Given the description of an element on the screen output the (x, y) to click on. 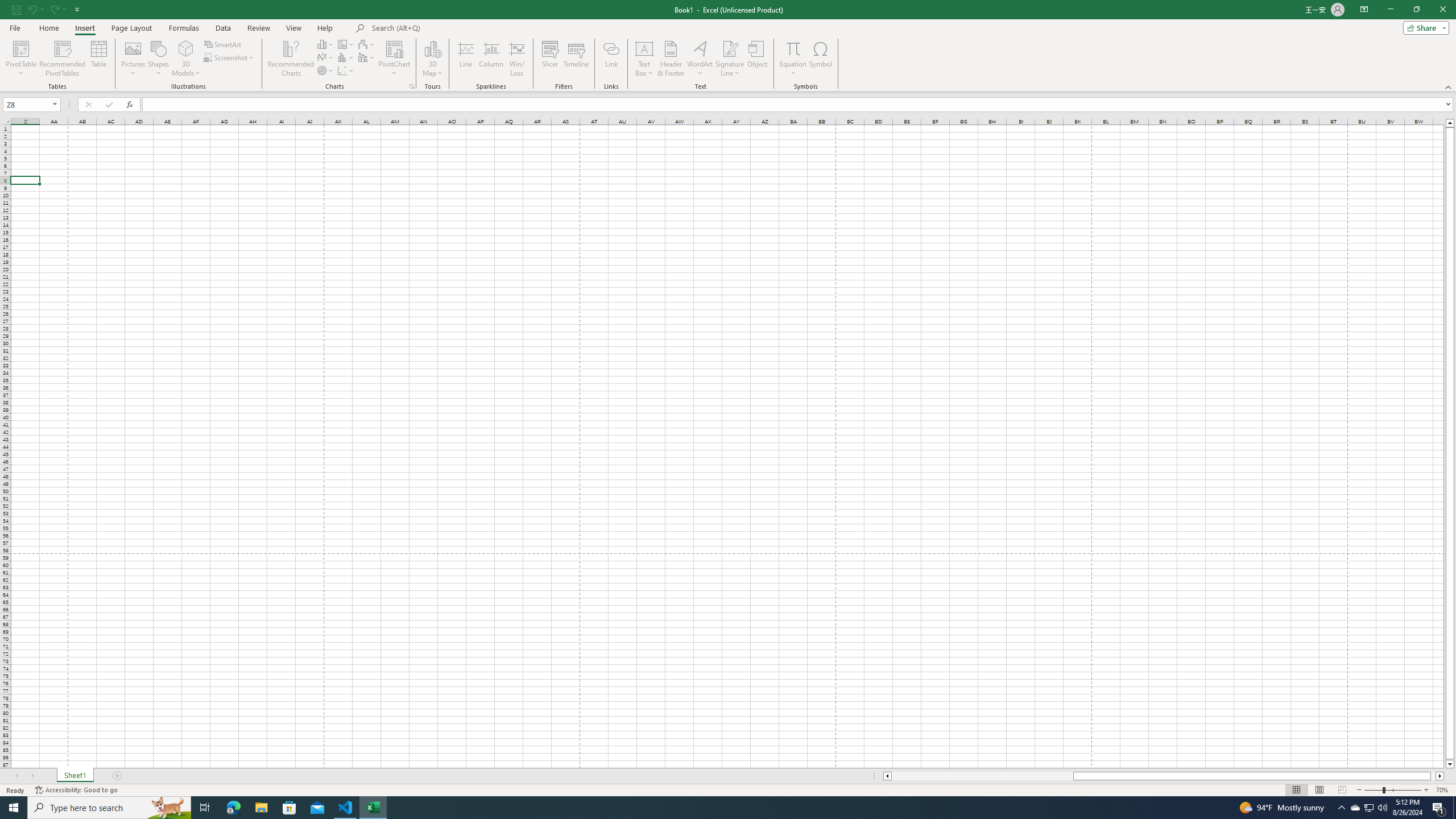
Line (465, 58)
Timeline (575, 58)
Insert Combo Chart (366, 56)
Signature Line (729, 58)
WordArt (699, 58)
SmartArt... (223, 44)
Recommended Charts (411, 85)
Equation (793, 58)
Symbol... (821, 58)
PivotChart (394, 48)
